Given the description of an element on the screen output the (x, y) to click on. 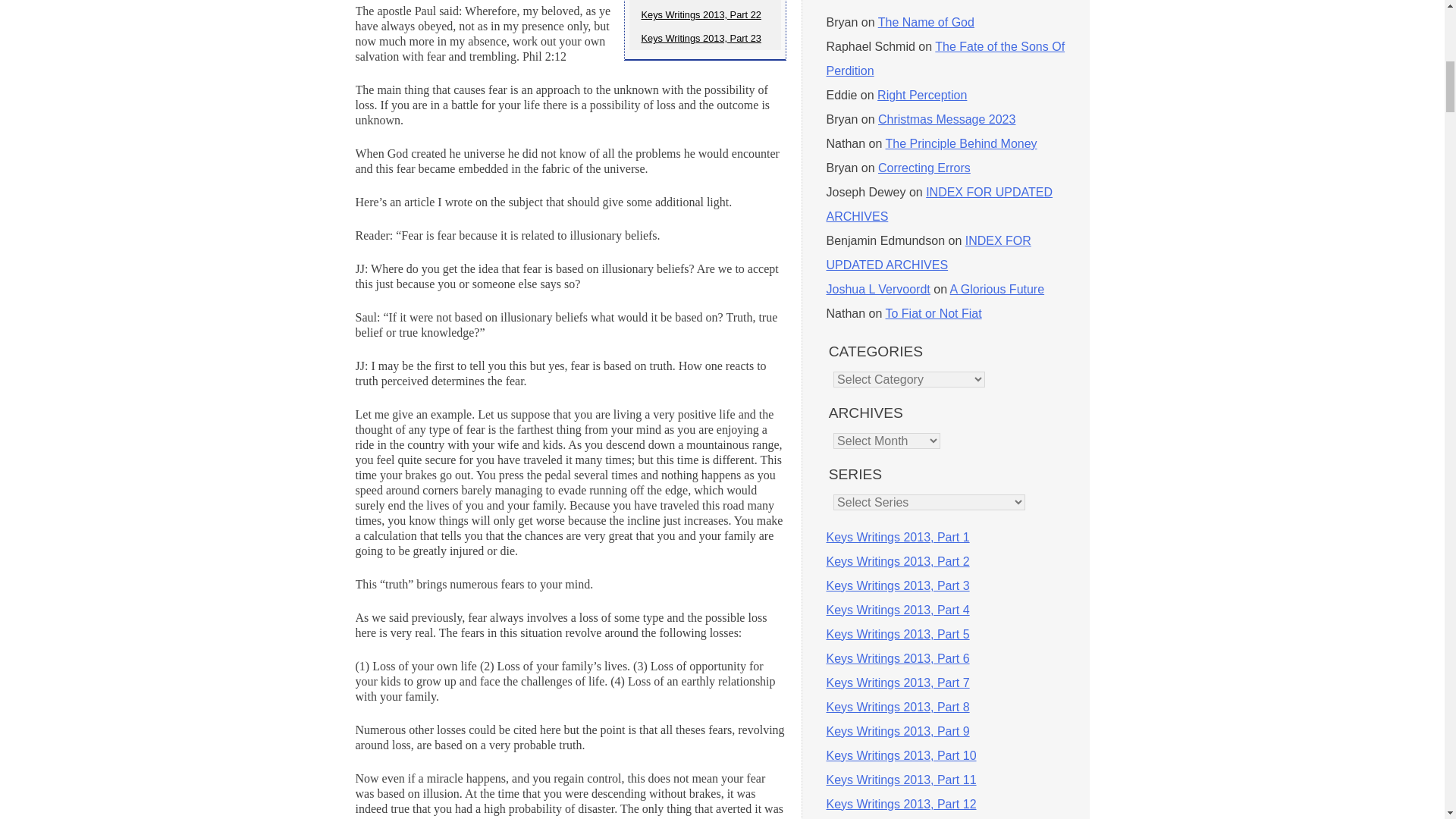
Keys Writings 2013, Part 23 (704, 37)
Keys Writings 2013, Part 21 (704, 1)
Keys Writings 2013, Part 22 (704, 14)
